Given the description of an element on the screen output the (x, y) to click on. 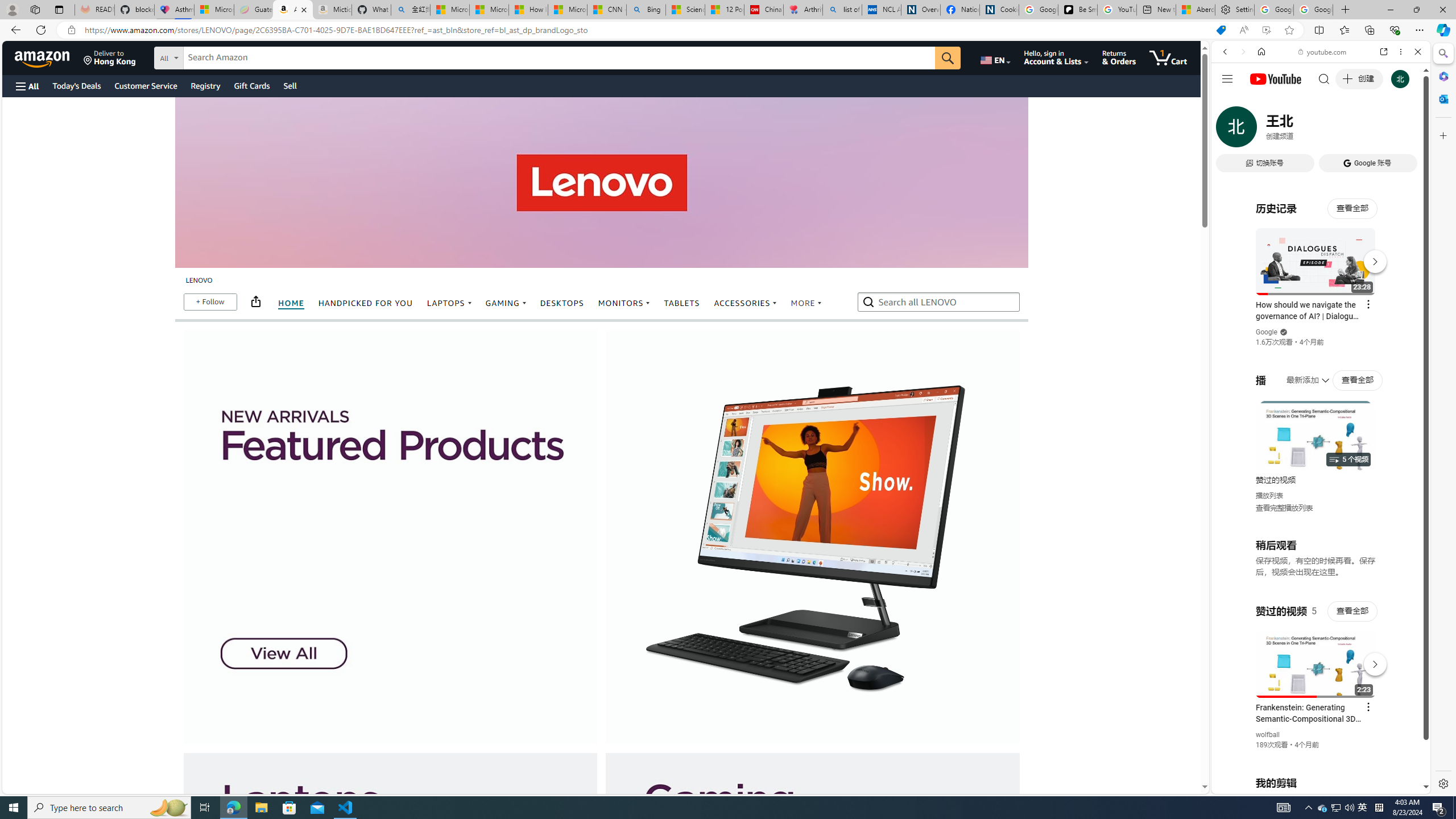
US[ju] (1249, 785)
Registry (205, 85)
DESKTOPS (561, 303)
